Given the description of an element on the screen output the (x, y) to click on. 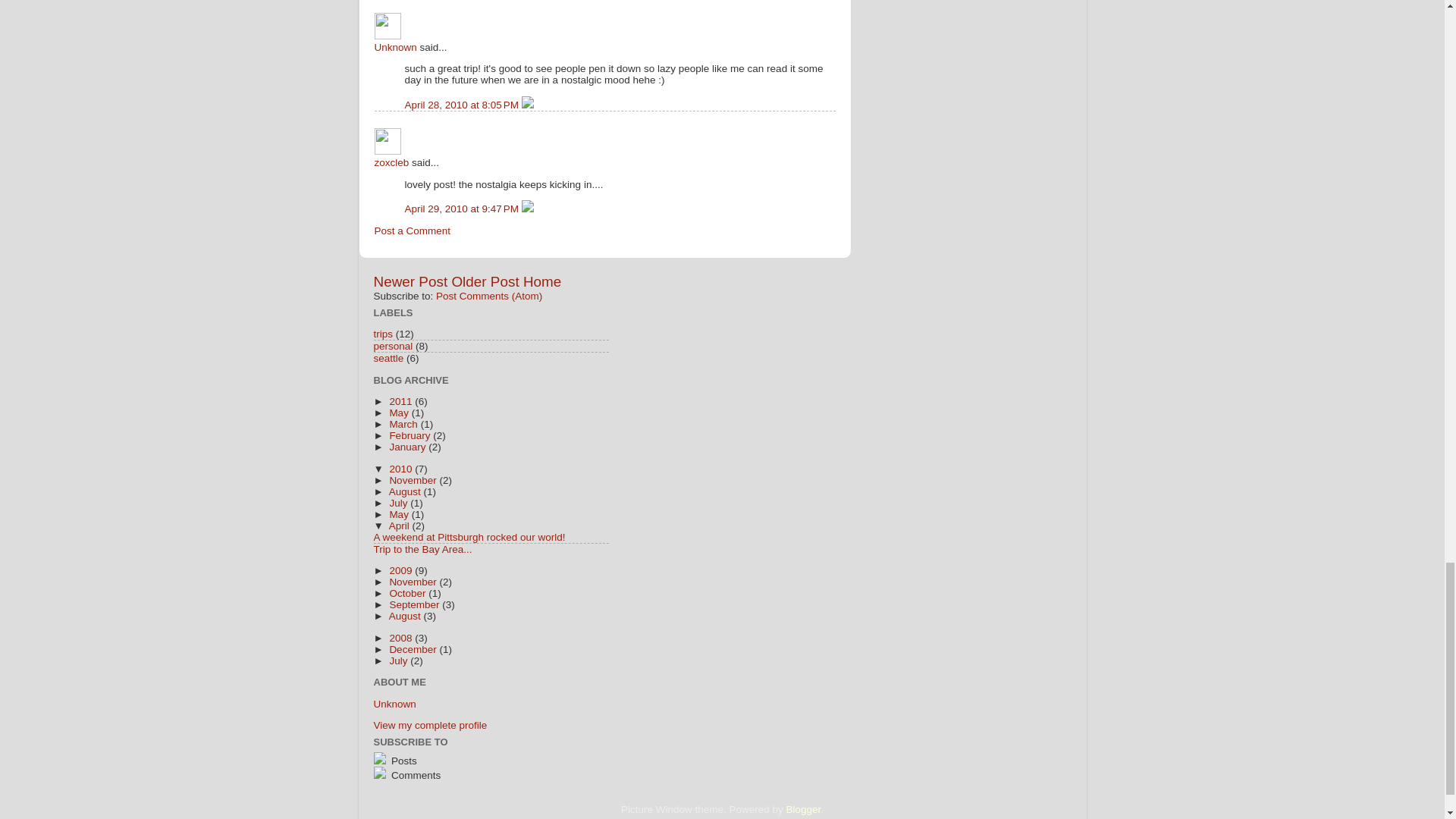
trips (382, 333)
Older Post (484, 281)
Post a Comment (412, 230)
Newer Post (409, 281)
personal (392, 346)
zoxcleb (391, 162)
Unknown (395, 47)
comment permalink (462, 104)
Home (541, 281)
Delete Comment (527, 104)
Unknown (387, 26)
zoxcleb (387, 140)
